Given the description of an element on the screen output the (x, y) to click on. 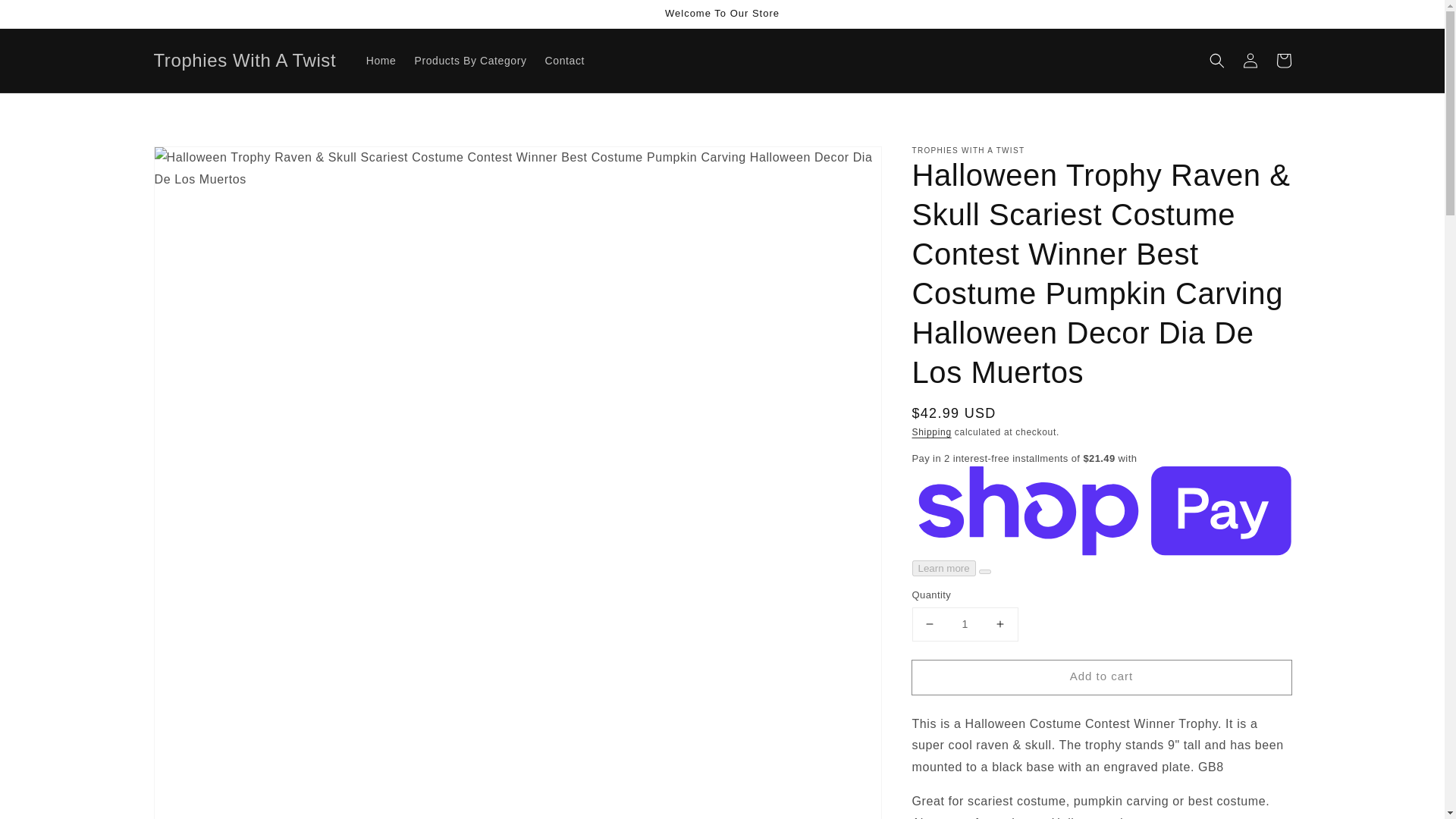
Contact (564, 60)
Products By Category (469, 60)
Shipping (930, 431)
Log in (1249, 60)
Skip to content (45, 16)
Trophies With A Twist (245, 60)
Cart (1283, 60)
Home (381, 60)
Skip to product information (198, 162)
Add to cart (1100, 677)
1 (964, 624)
